Given the description of an element on the screen output the (x, y) to click on. 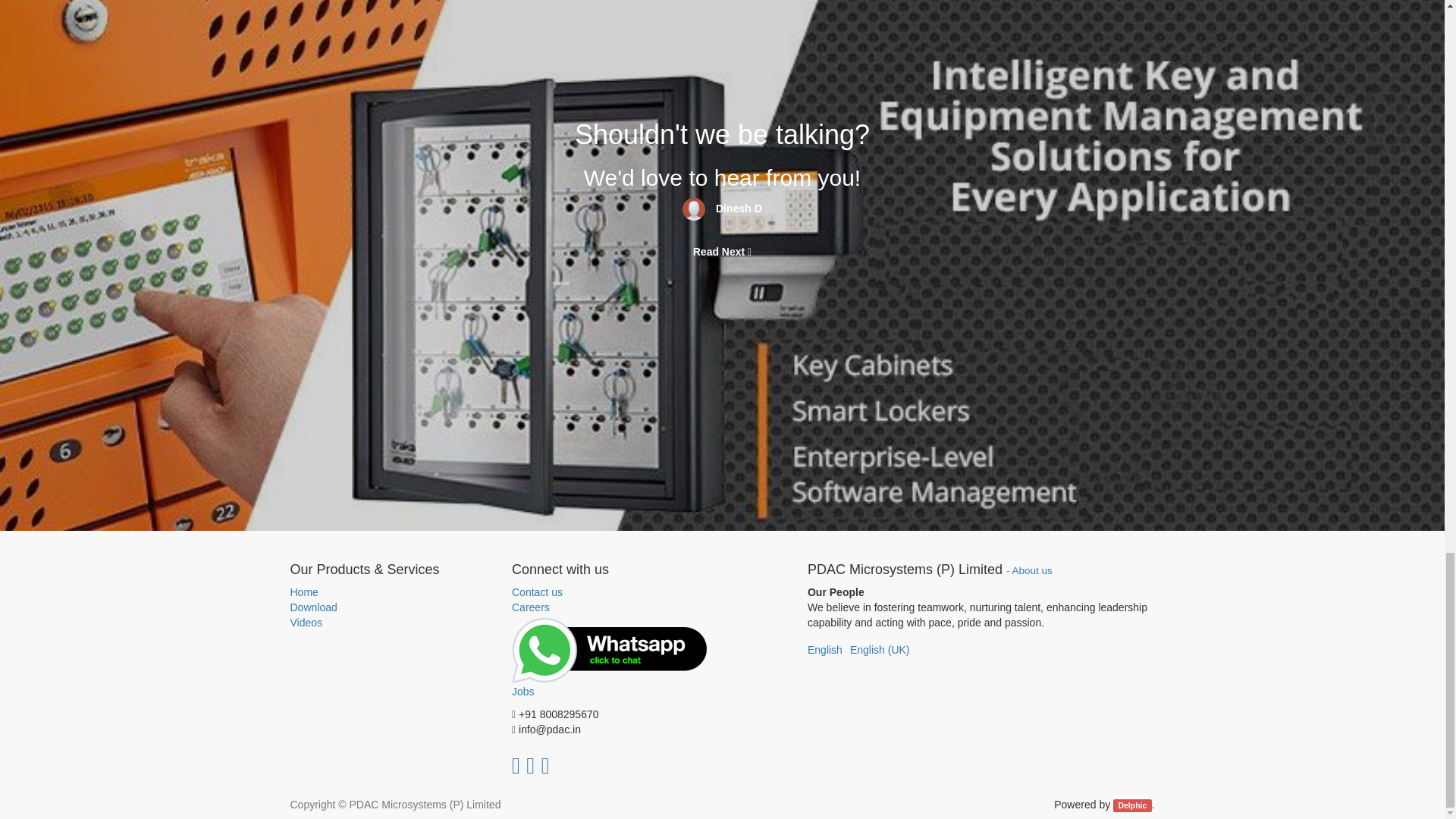
About us (1031, 570)
Videos (389, 622)
Contact us (611, 592)
Careers (531, 607)
Jobs (611, 657)
English (825, 649)
Download (389, 607)
Home (389, 592)
Delphic (1132, 805)
